Given the description of an element on the screen output the (x, y) to click on. 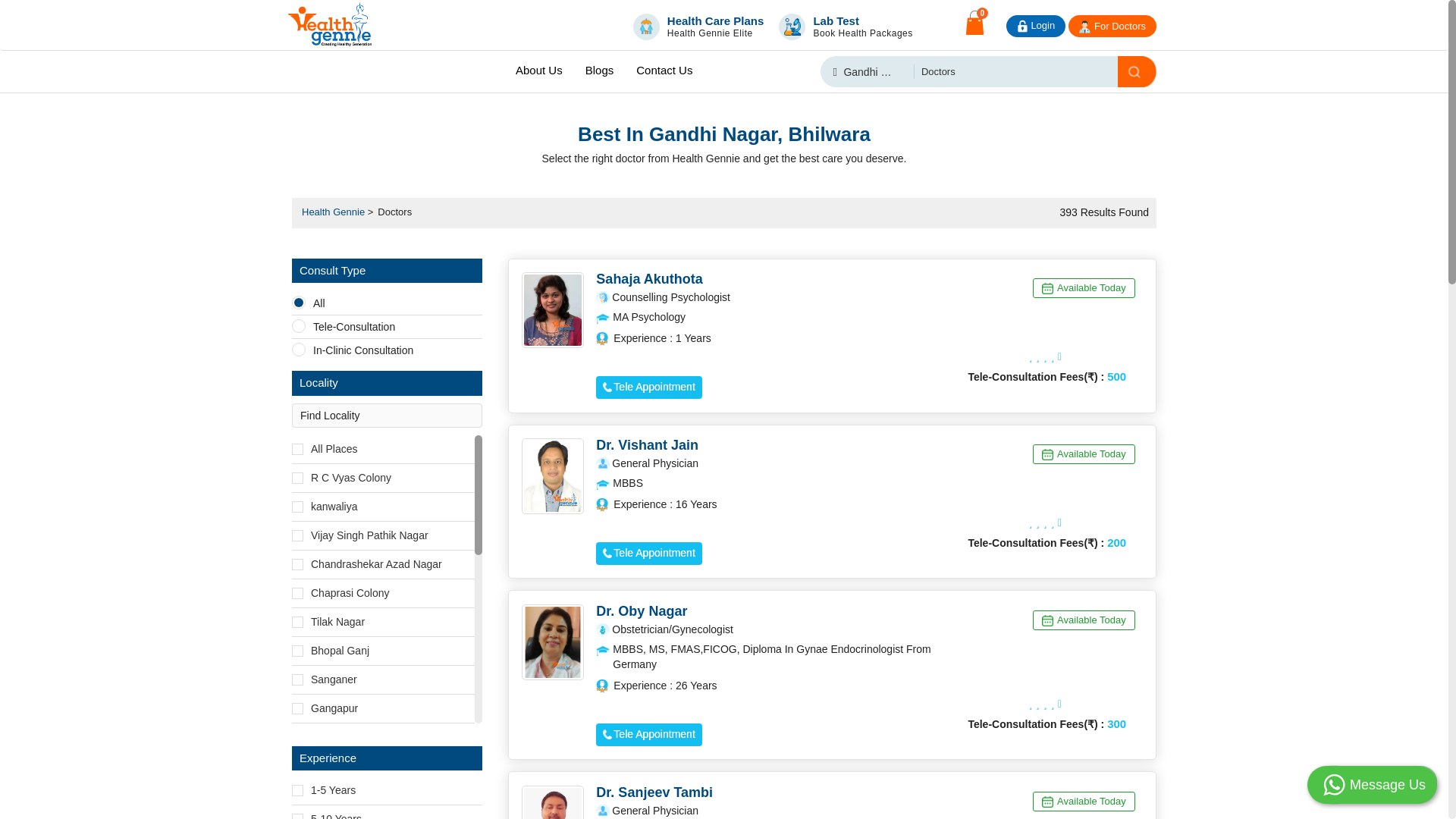
doctors (1035, 71)
For Doctors (1111, 25)
4.7 Rating (1047, 703)
Login (1035, 25)
Gandhi Nagar (698, 24)
About Us (867, 71)
Contact Us (538, 69)
Health Gennie (845, 24)
